Given the description of an element on the screen output the (x, y) to click on. 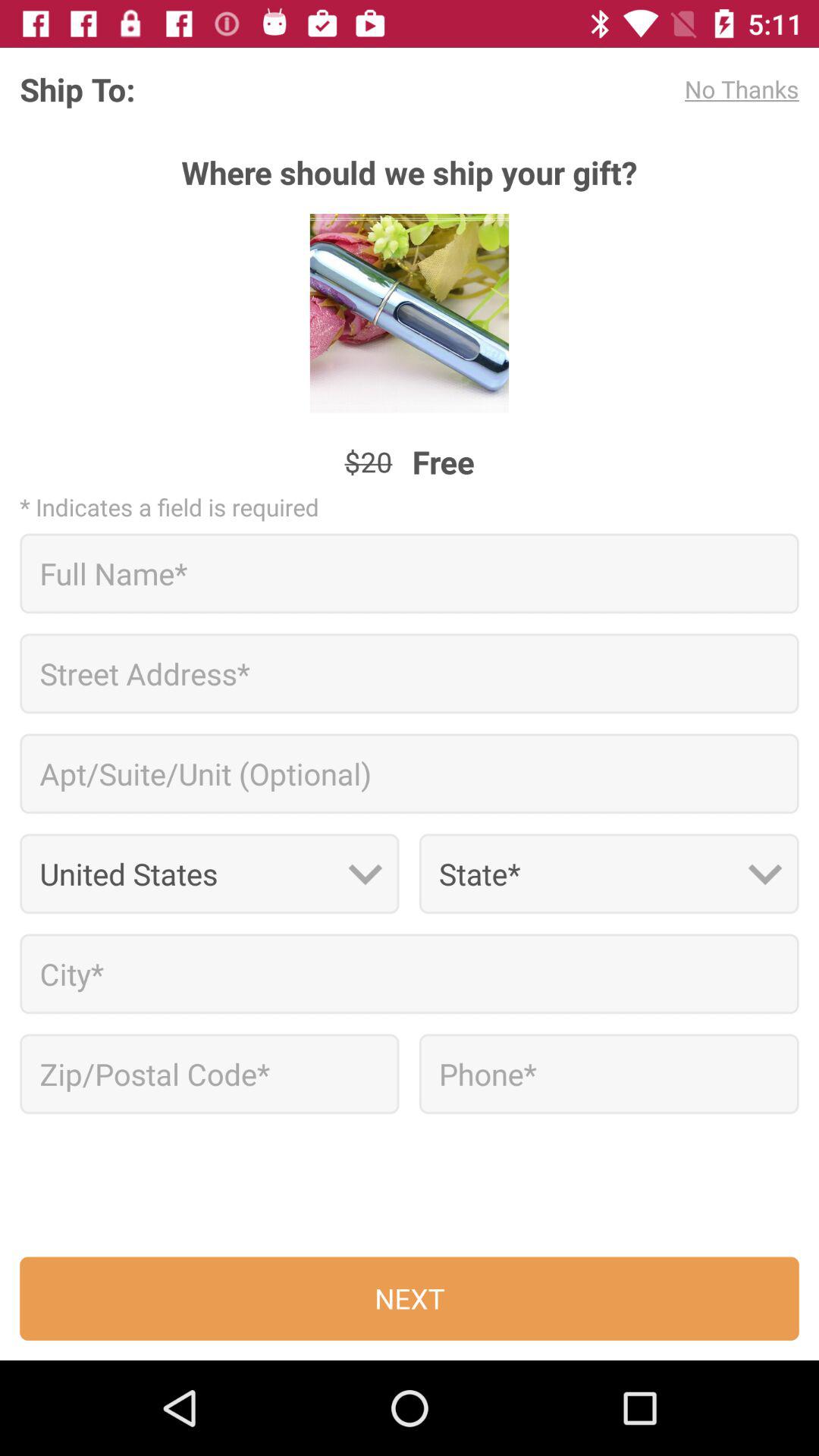
application form the article (209, 1073)
